Given the description of an element on the screen output the (x, y) to click on. 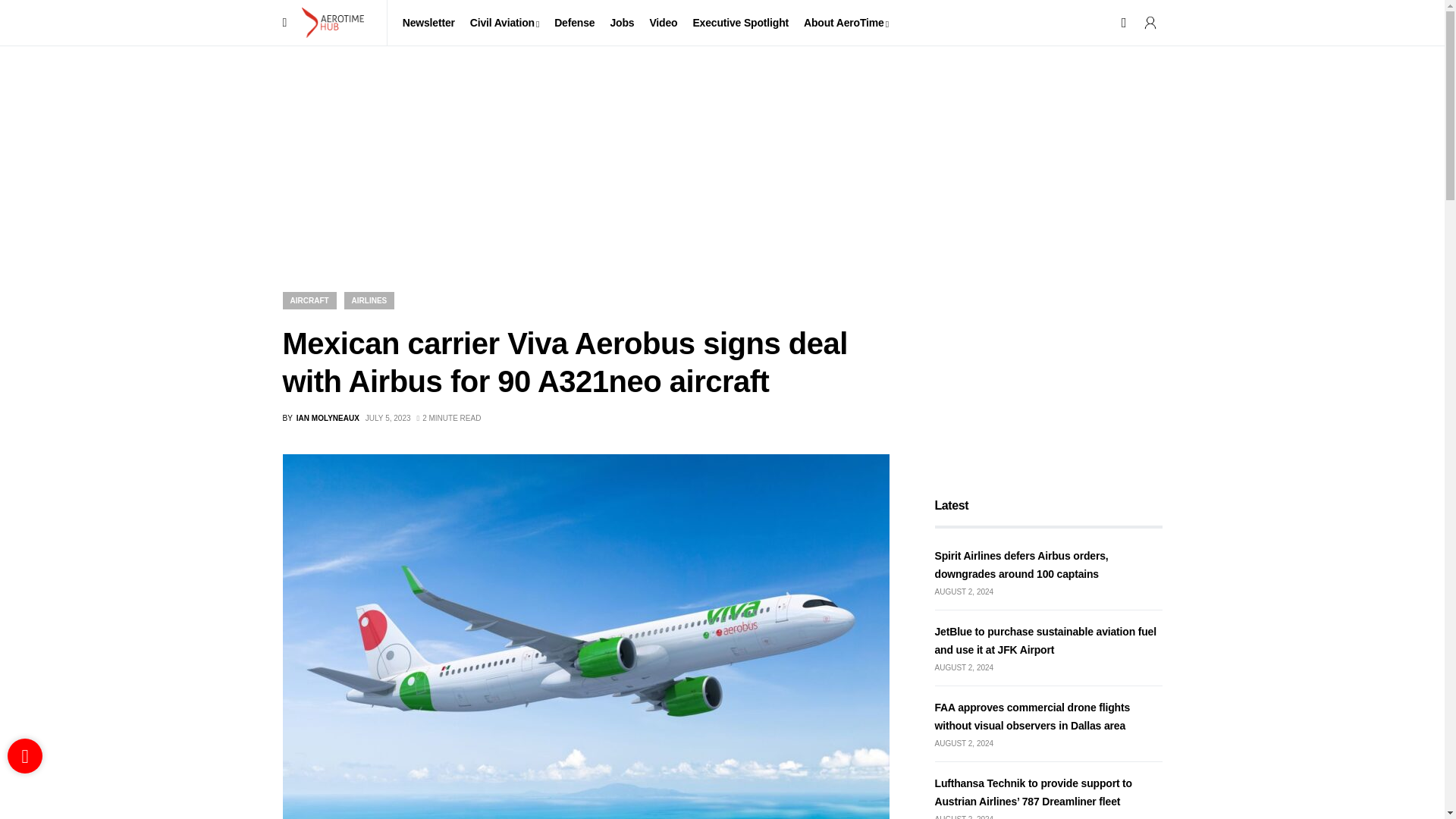
View all posts by Ian Molyneaux (320, 418)
Newsletter (428, 22)
Civil Aviation (504, 22)
